Given the description of an element on the screen output the (x, y) to click on. 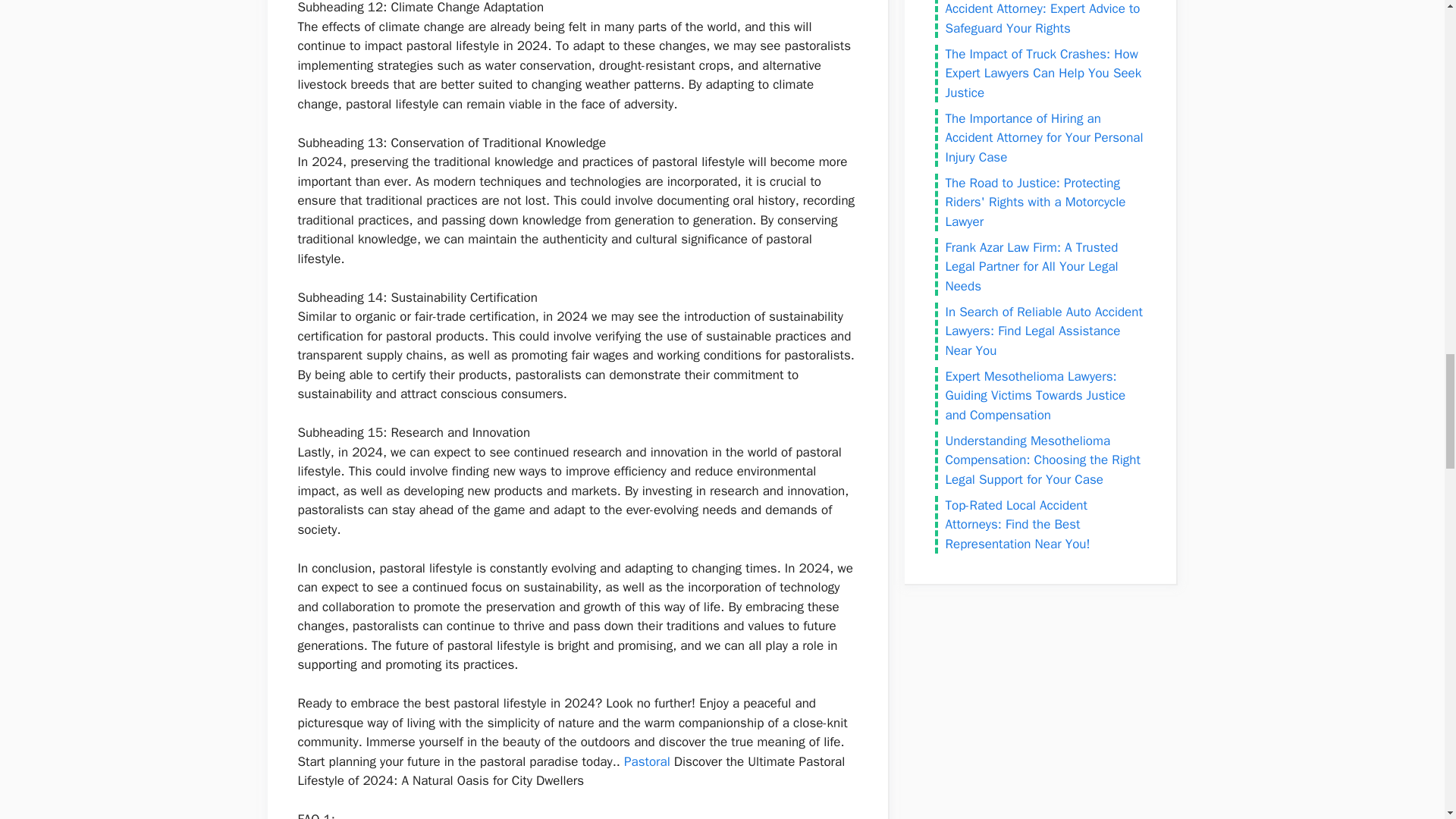
Pastoral (646, 761)
